Given the description of an element on the screen output the (x, y) to click on. 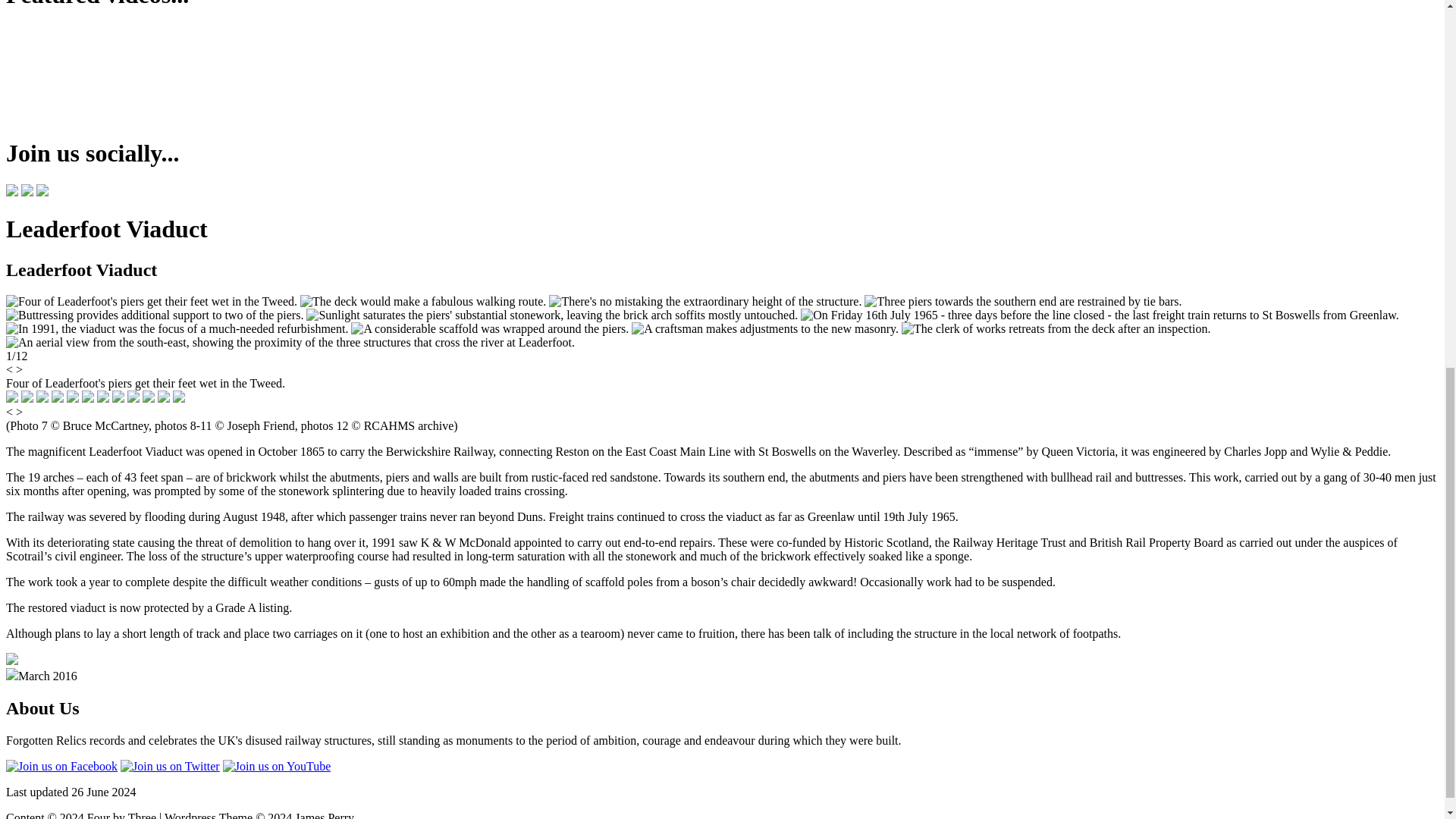
YouTube video player (89, 72)
YouTube video player (256, 72)
